Given the description of an element on the screen output the (x, y) to click on. 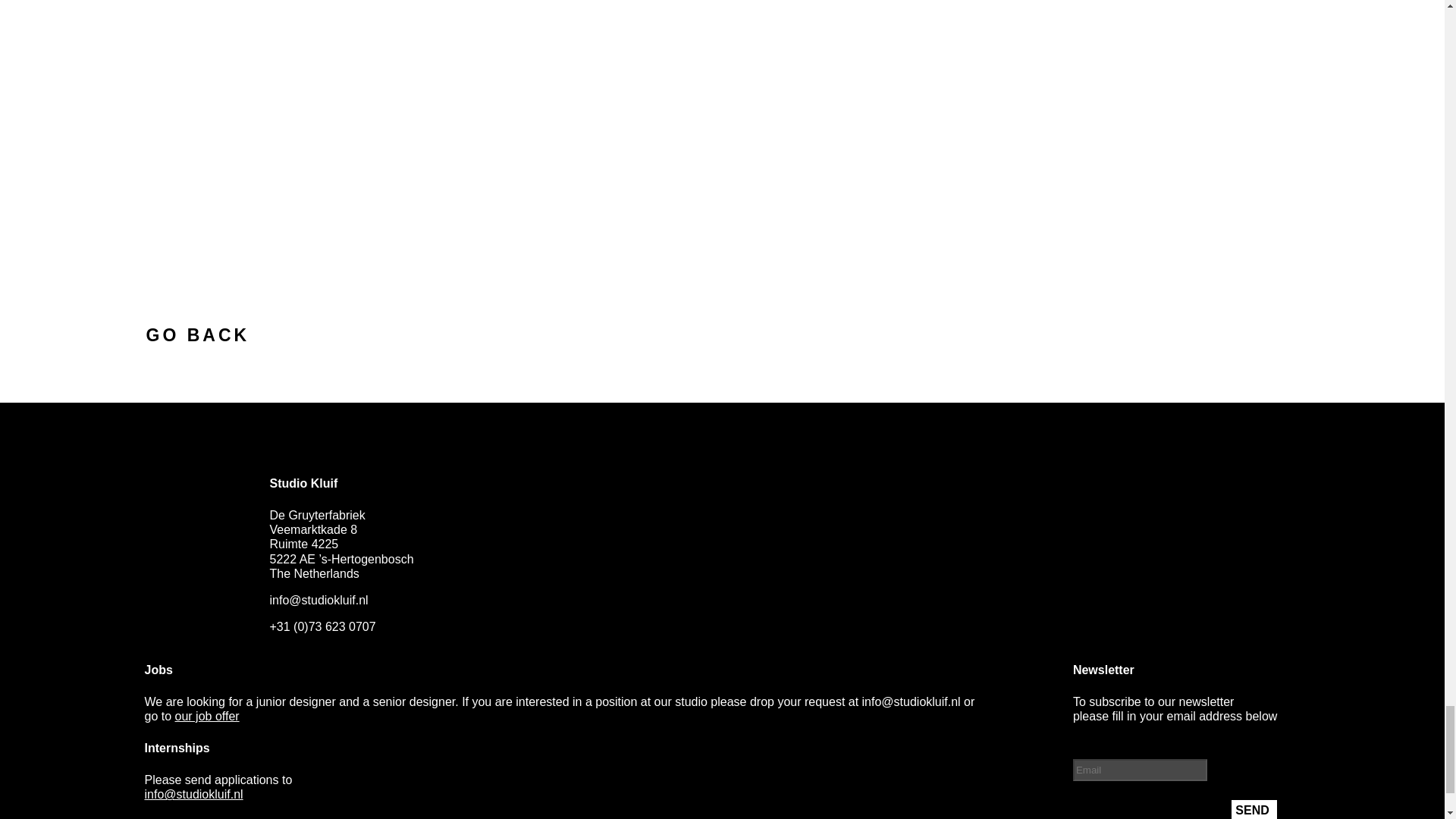
SEND (1253, 809)
GO BACK (196, 334)
our job offer (207, 716)
